Given the description of an element on the screen output the (x, y) to click on. 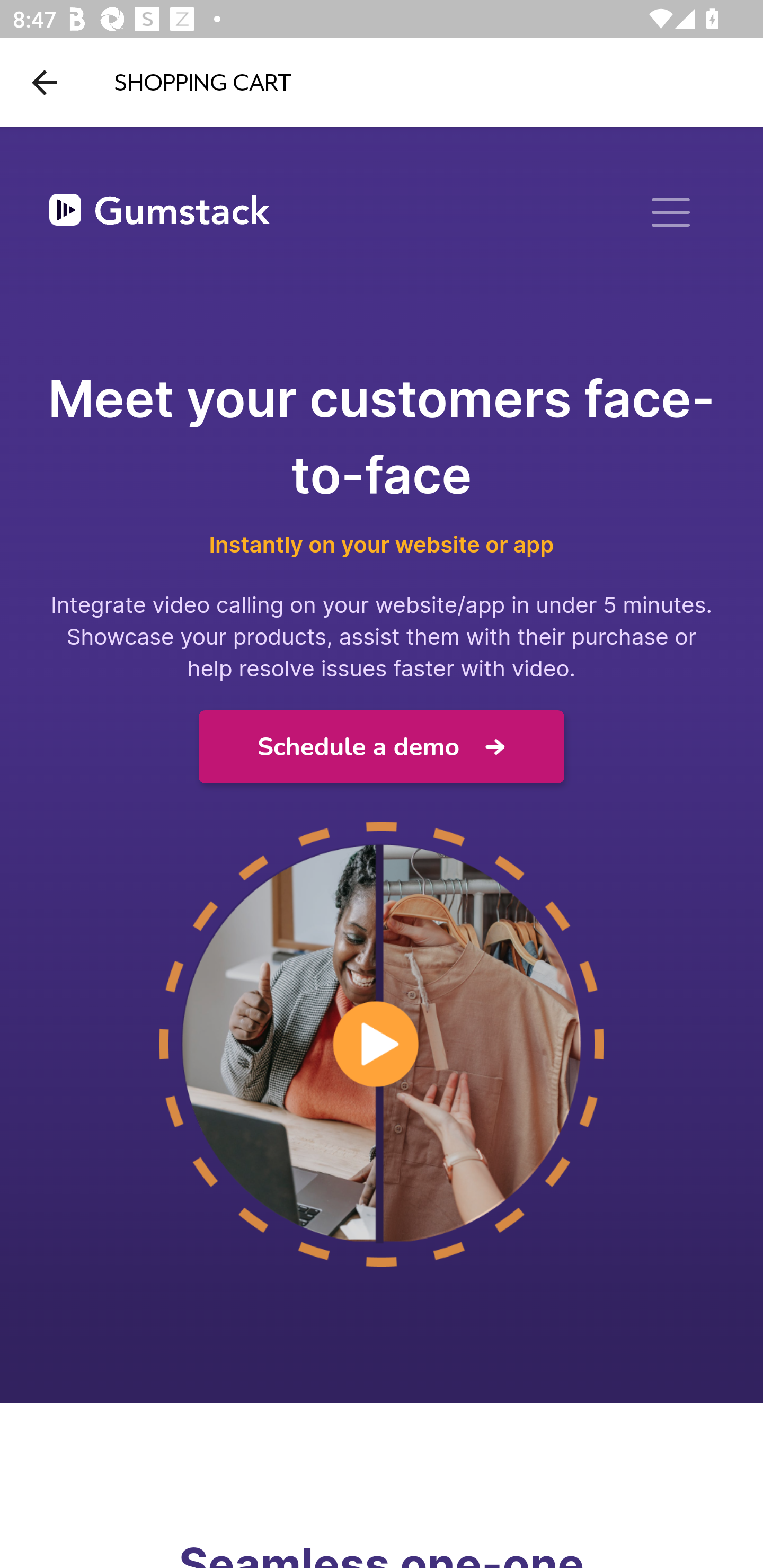
Navigate up (44, 82)
Gumstack Logo (159, 212)
Toggle navigation (670, 212)
Schedule a demo Sorry image is not available (381, 747)
Image not available (381, 1044)
